Given the description of an element on the screen output the (x, y) to click on. 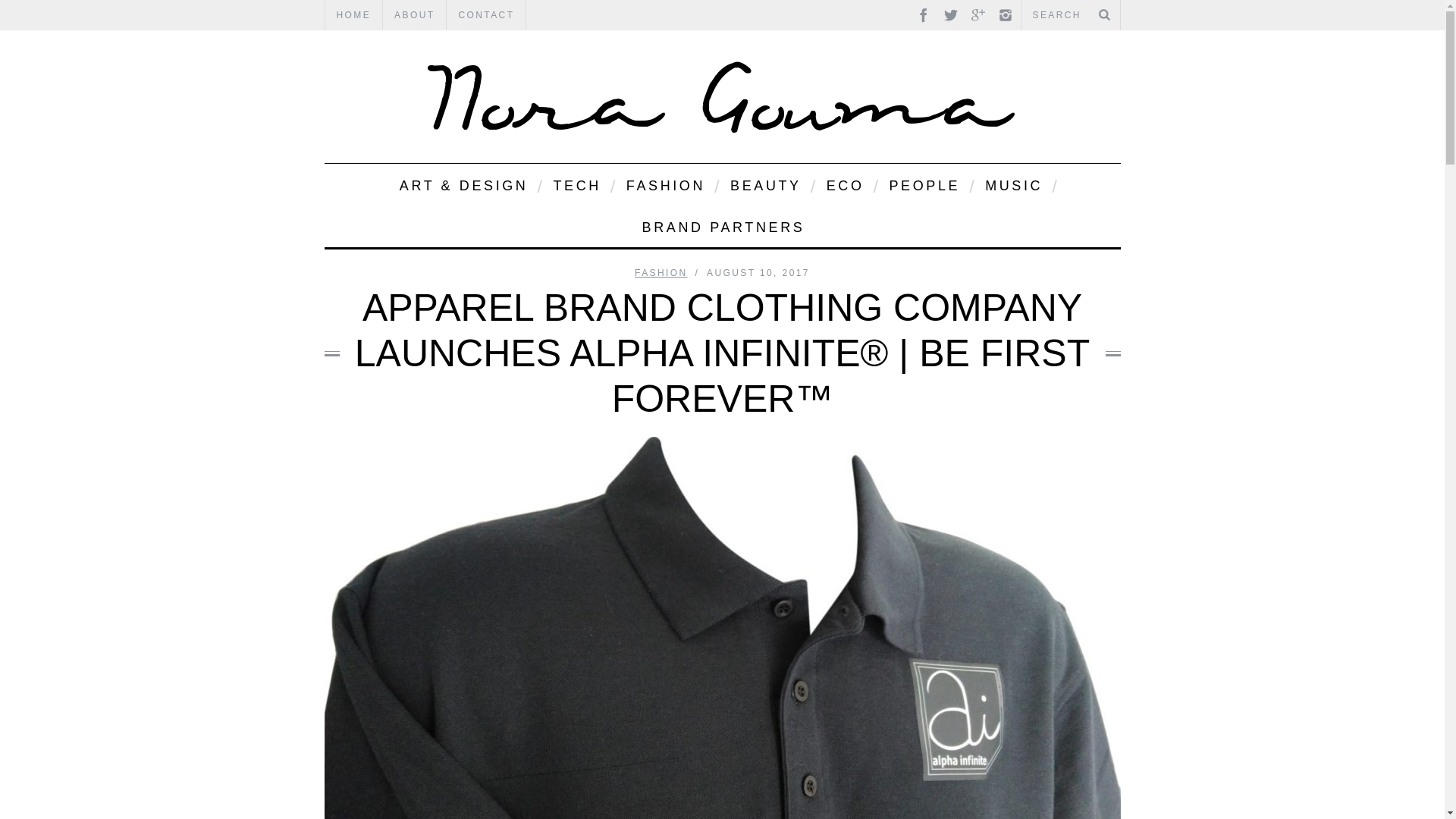
 -  (722, 96)
Search (1070, 15)
